Given the description of an element on the screen output the (x, y) to click on. 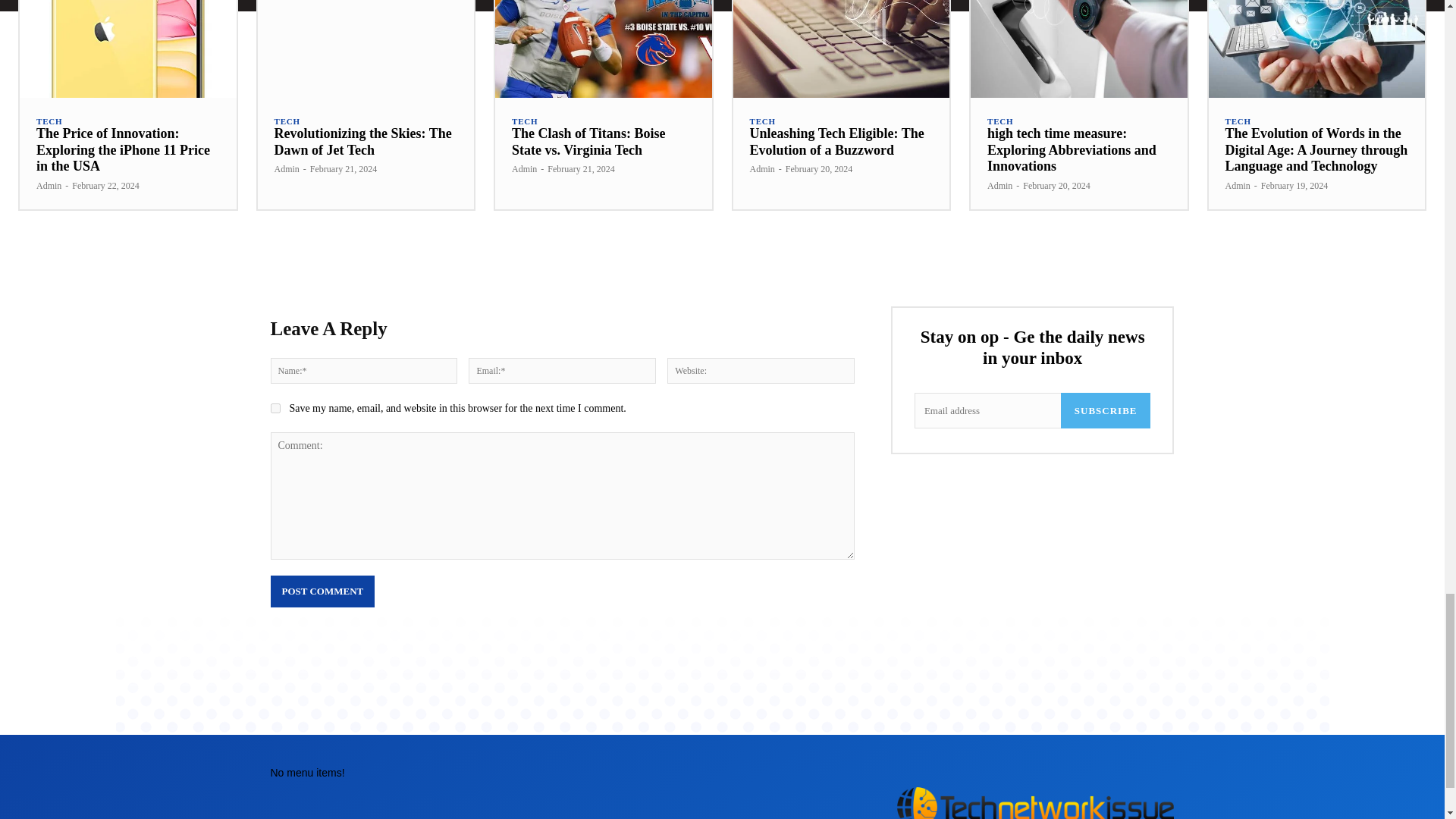
Revolutionizing the Skies: The Dawn of Jet Tech (365, 48)
Admin (287, 168)
TECH (761, 121)
yes (274, 408)
Post Comment (321, 591)
Revolutionizing the Skies: The Dawn of Jet Tech (363, 142)
TECH (49, 121)
TECH (524, 121)
Admin (524, 168)
